Given the description of an element on the screen output the (x, y) to click on. 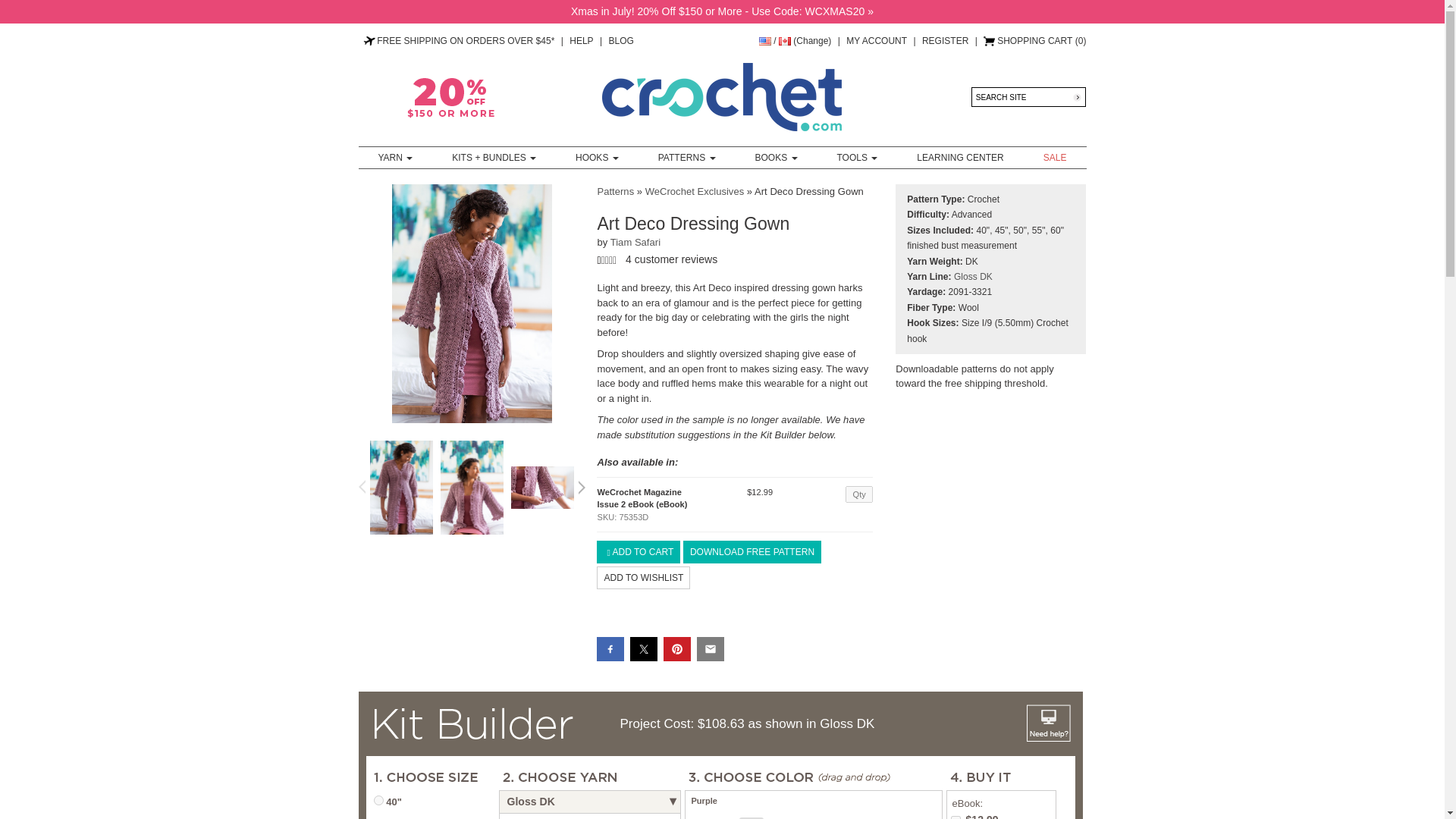
BOOKS (775, 157)
BLOG (620, 40)
PATTERNS (687, 157)
1 (377, 800)
HOOKS (597, 157)
on (955, 817)
YARN (395, 157)
REGISTER (944, 40)
HELP (580, 40)
MY ACCOUNT (876, 40)
SHOPPING CART (1027, 40)
TOOLS (857, 157)
